Given the description of an element on the screen output the (x, y) to click on. 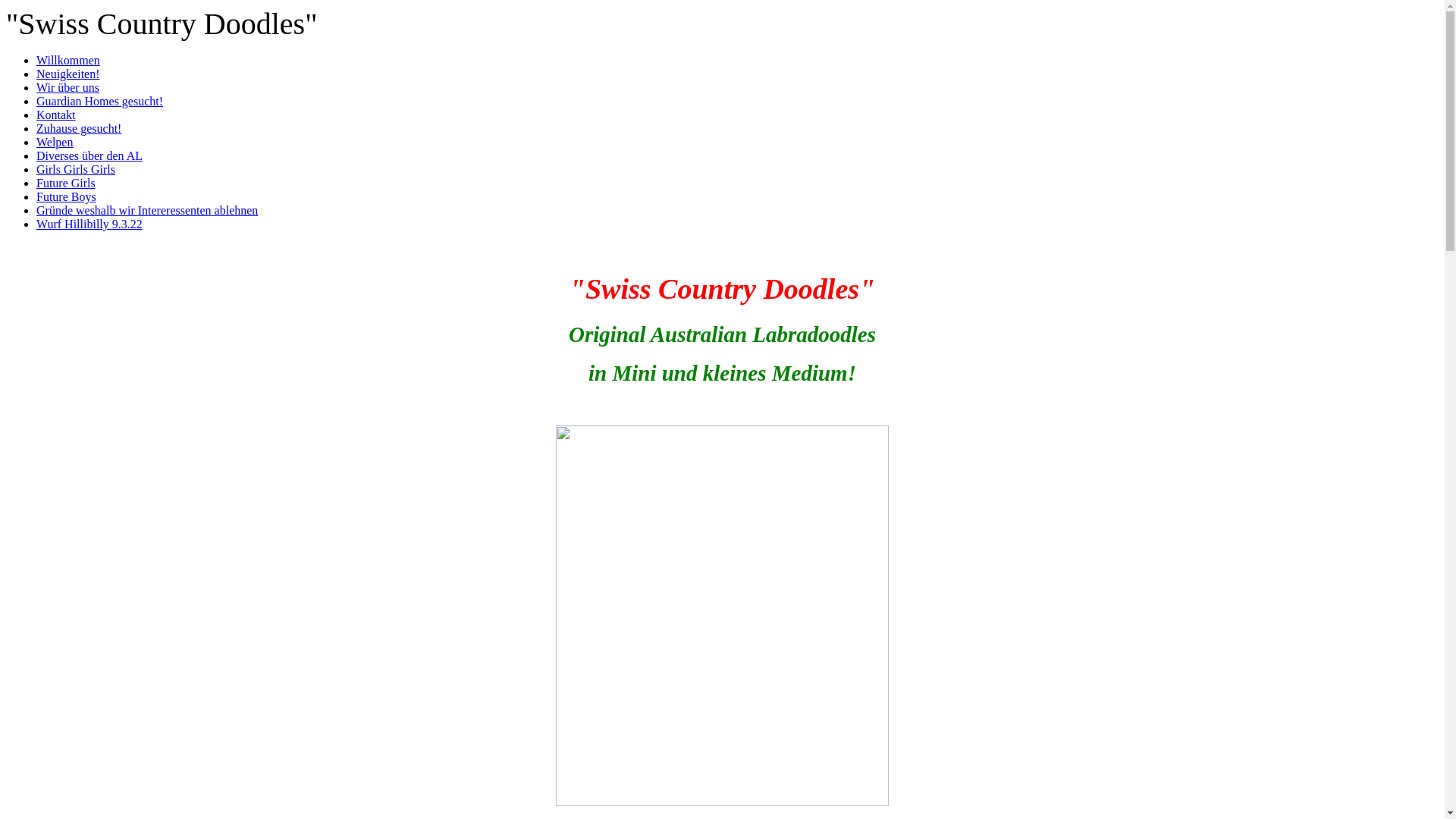
Wurf Hillibilly 9.3.22 Element type: text (89, 223)
Future Boys Element type: text (66, 196)
Willkommen Element type: text (68, 59)
Zuhause gesucht! Element type: text (78, 128)
Welpen Element type: text (54, 141)
Kontakt Element type: text (55, 114)
Future Girls Element type: text (65, 182)
Neuigkeiten! Element type: text (68, 73)
Girls Girls Girls Element type: text (75, 169)
Guardian Homes gesucht! Element type: text (99, 100)
